Given the description of an element on the screen output the (x, y) to click on. 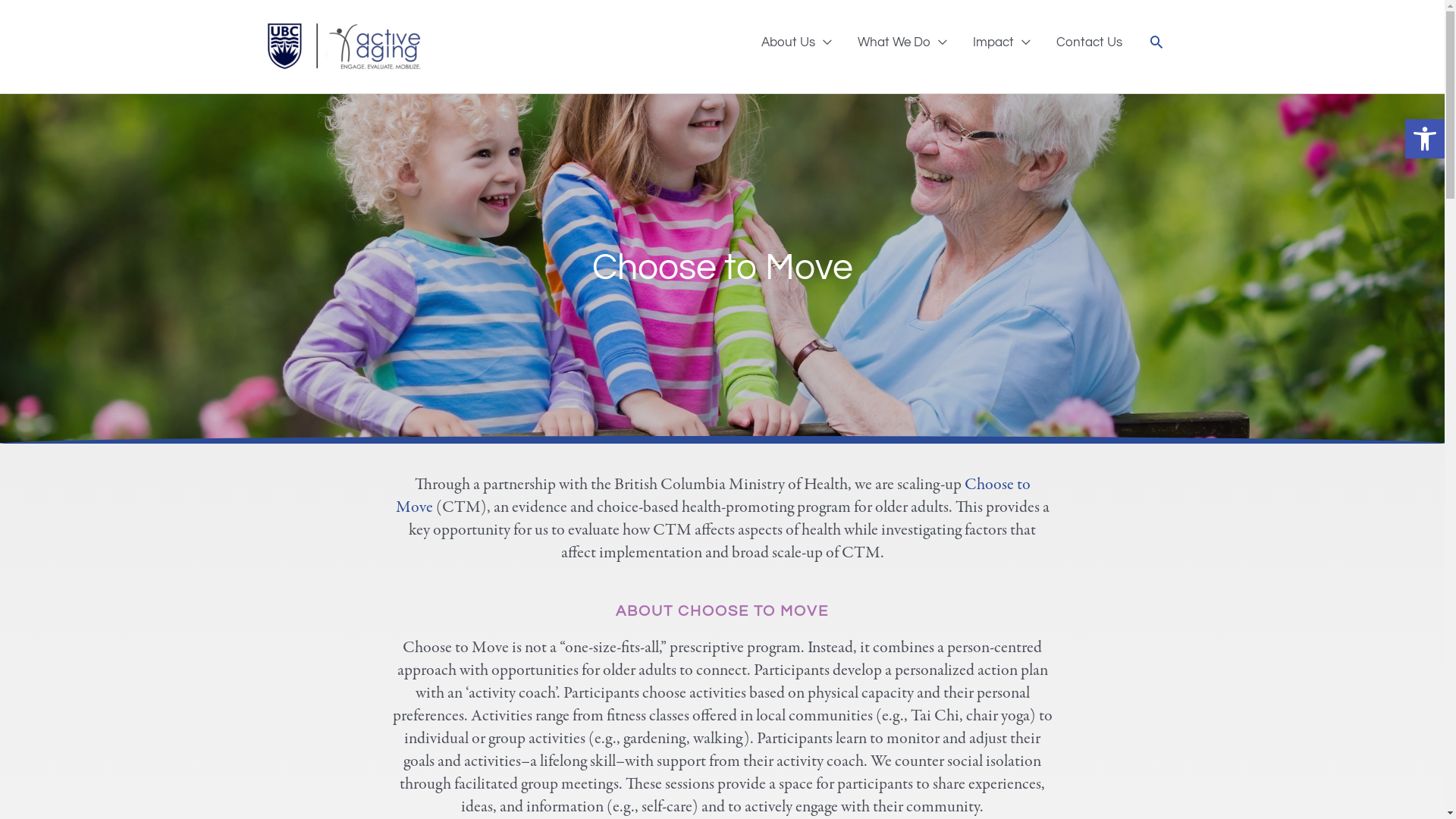
Impact Element type: text (1001, 42)
About Us Element type: text (795, 42)
Contact Us Element type: text (1089, 42)
What We Do Element type: text (902, 42)
Open toolbar
Accessibility Tools Element type: text (1424, 138)
Choose to Move Element type: text (712, 495)
Search Element type: text (1156, 41)
